Given the description of an element on the screen output the (x, y) to click on. 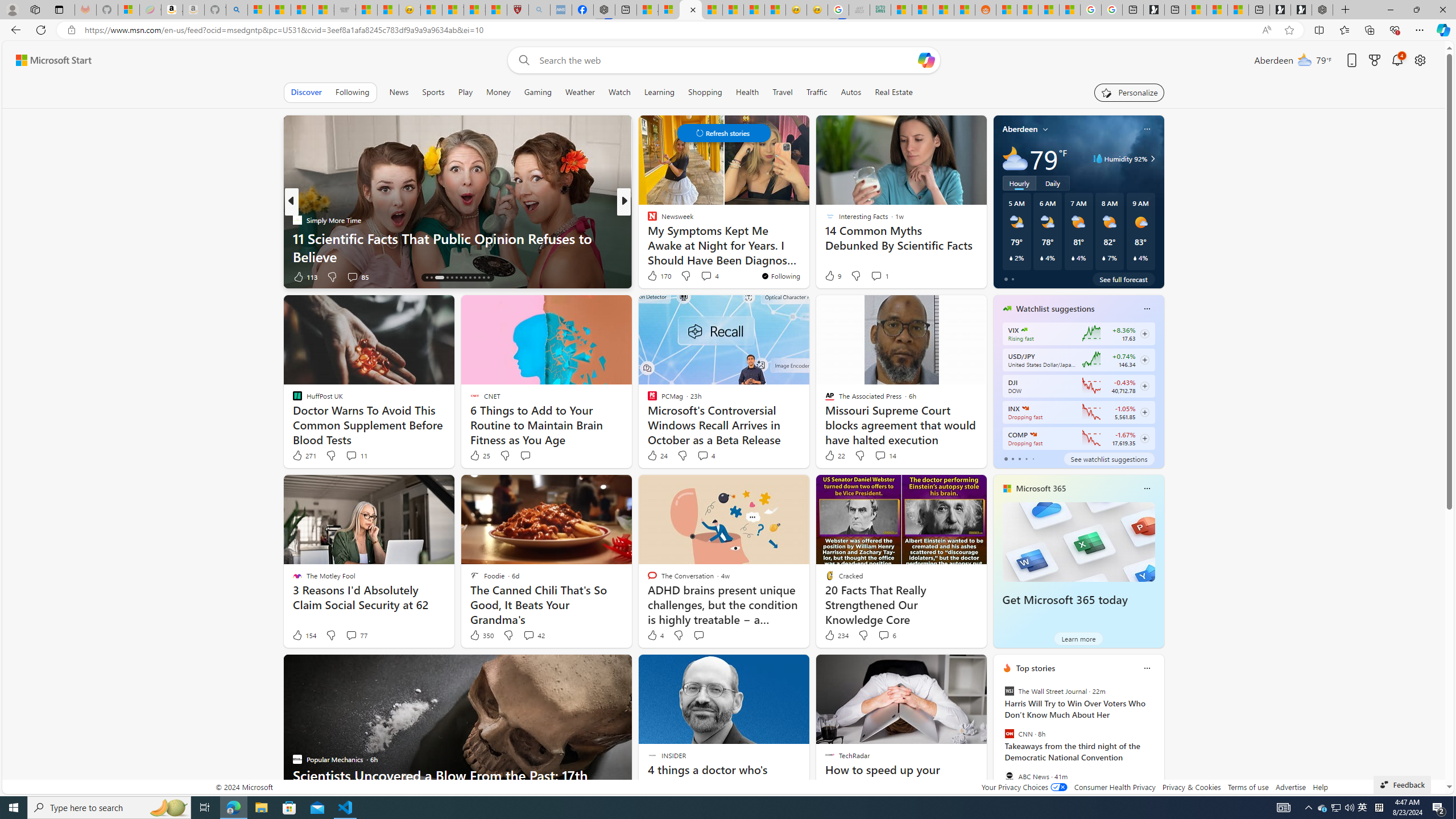
Popular Mechanics (647, 219)
View comments 14 Comment (879, 455)
Get Microsoft 365 today (1077, 541)
Personalize your feed" (1129, 92)
76 Like (652, 276)
Newsweek (647, 219)
